Given the description of an element on the screen output the (x, y) to click on. 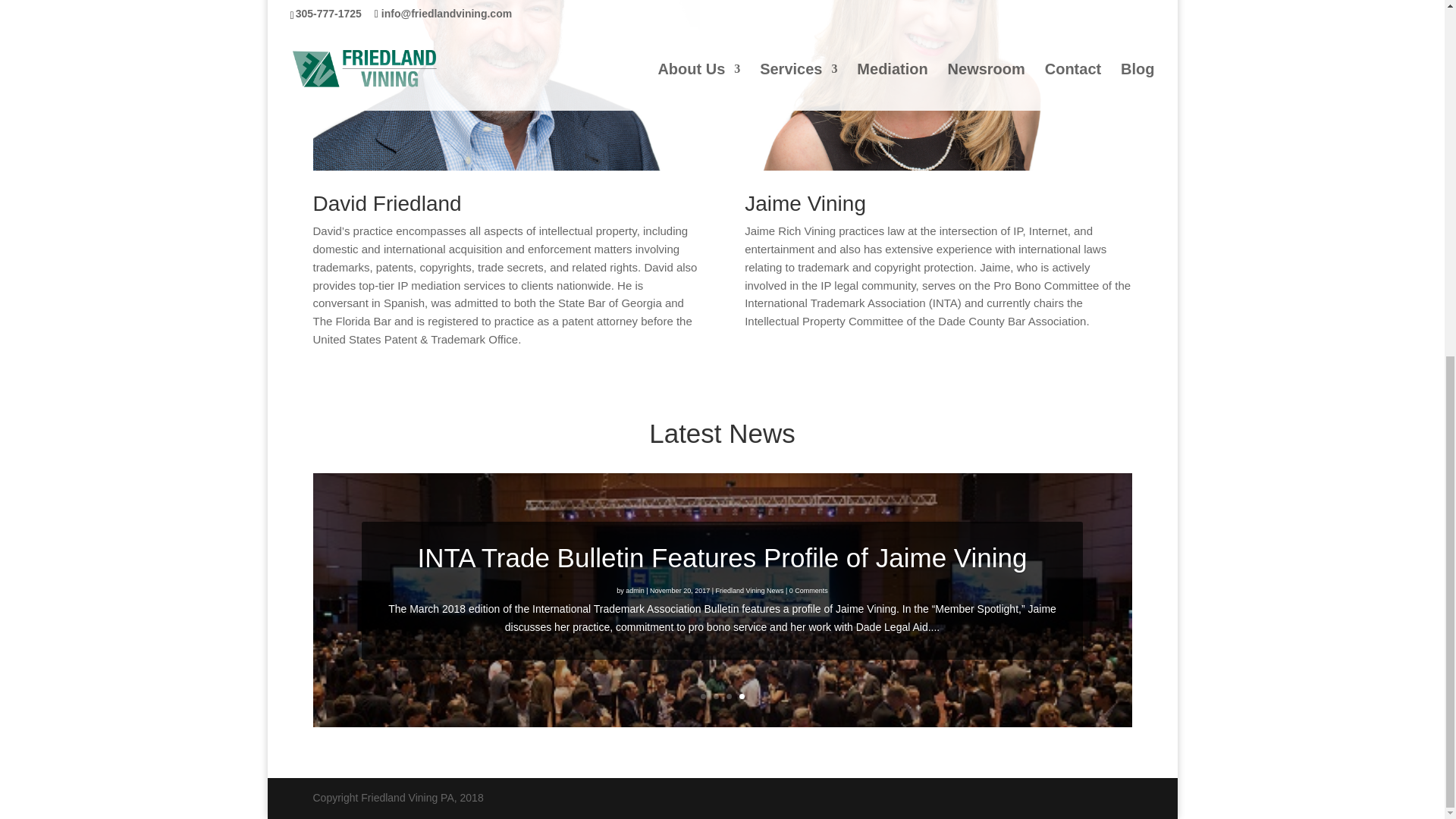
INTA Trade Bulletin Features Profile of Jaime Vining (721, 562)
Jaime Vining (805, 203)
David Friedland (387, 203)
Friedland Vining News (750, 592)
admin (635, 593)
Posts by admin (635, 591)
